Given the description of an element on the screen output the (x, y) to click on. 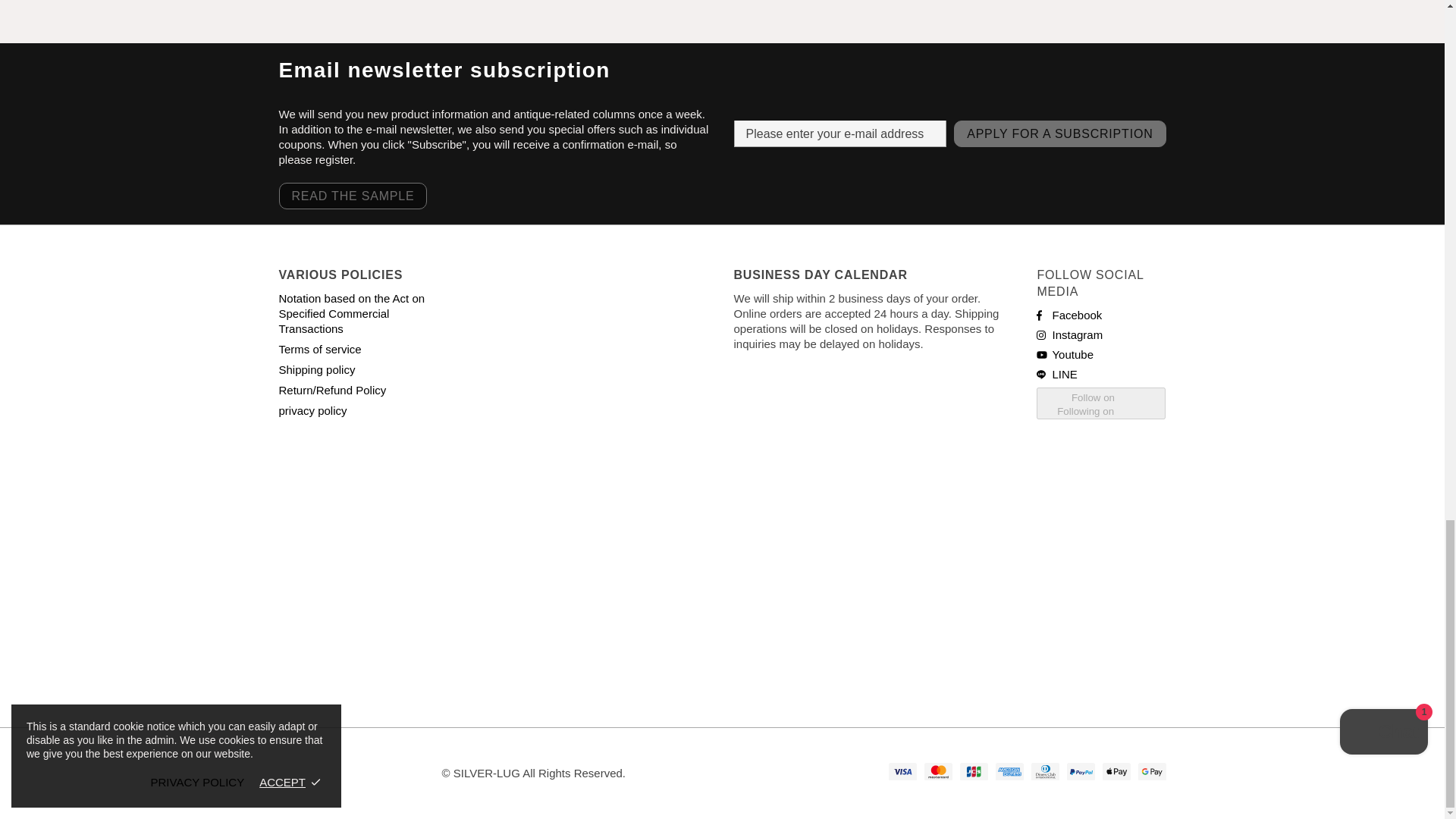
Apply for a subscription (1059, 133)
calendar (873, 533)
